Given the description of an element on the screen output the (x, y) to click on. 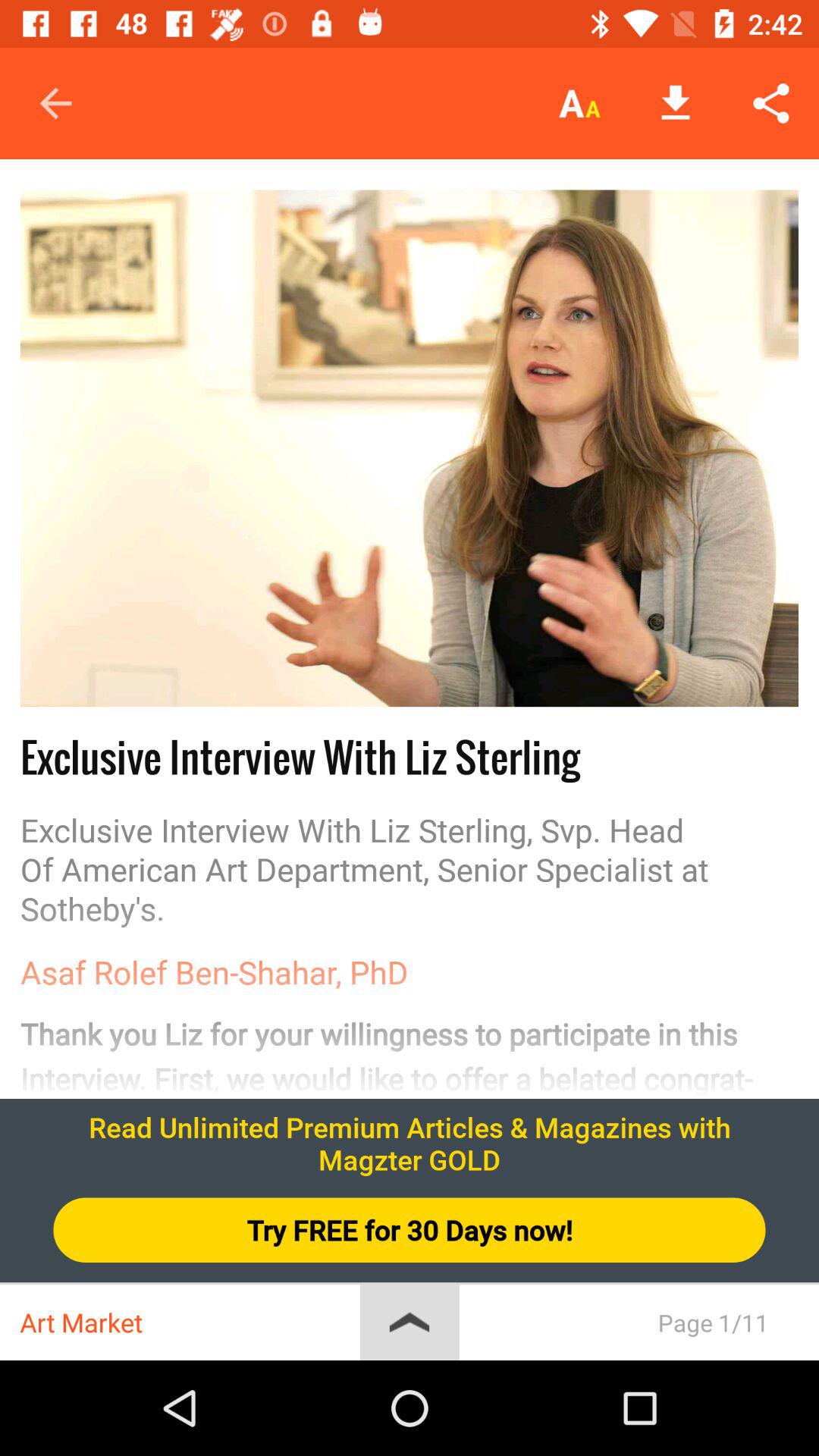
swipe until the art market item (189, 1322)
